Given the description of an element on the screen output the (x, y) to click on. 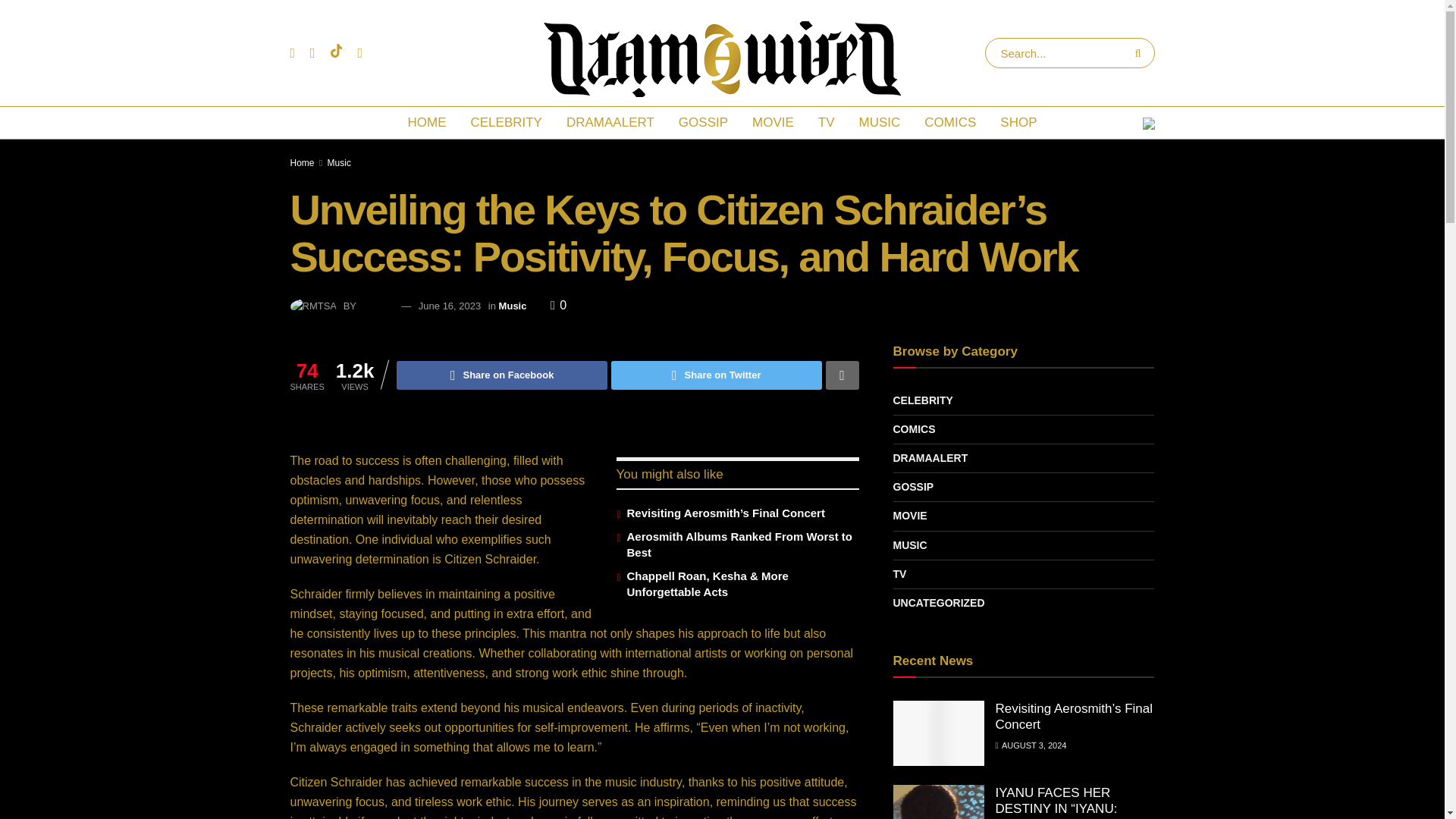
MUSIC (879, 122)
Home (301, 163)
DRAMAALERT (610, 122)
RMTSA (375, 306)
MOVIE (772, 122)
SHOP (1018, 122)
0 (558, 305)
HOME (426, 122)
June 16, 2023 (449, 306)
GOSSIP (702, 122)
COMICS (950, 122)
CELEBRITY (505, 122)
Music (338, 163)
Share on Facebook (501, 375)
TV (826, 122)
